Given the description of an element on the screen output the (x, y) to click on. 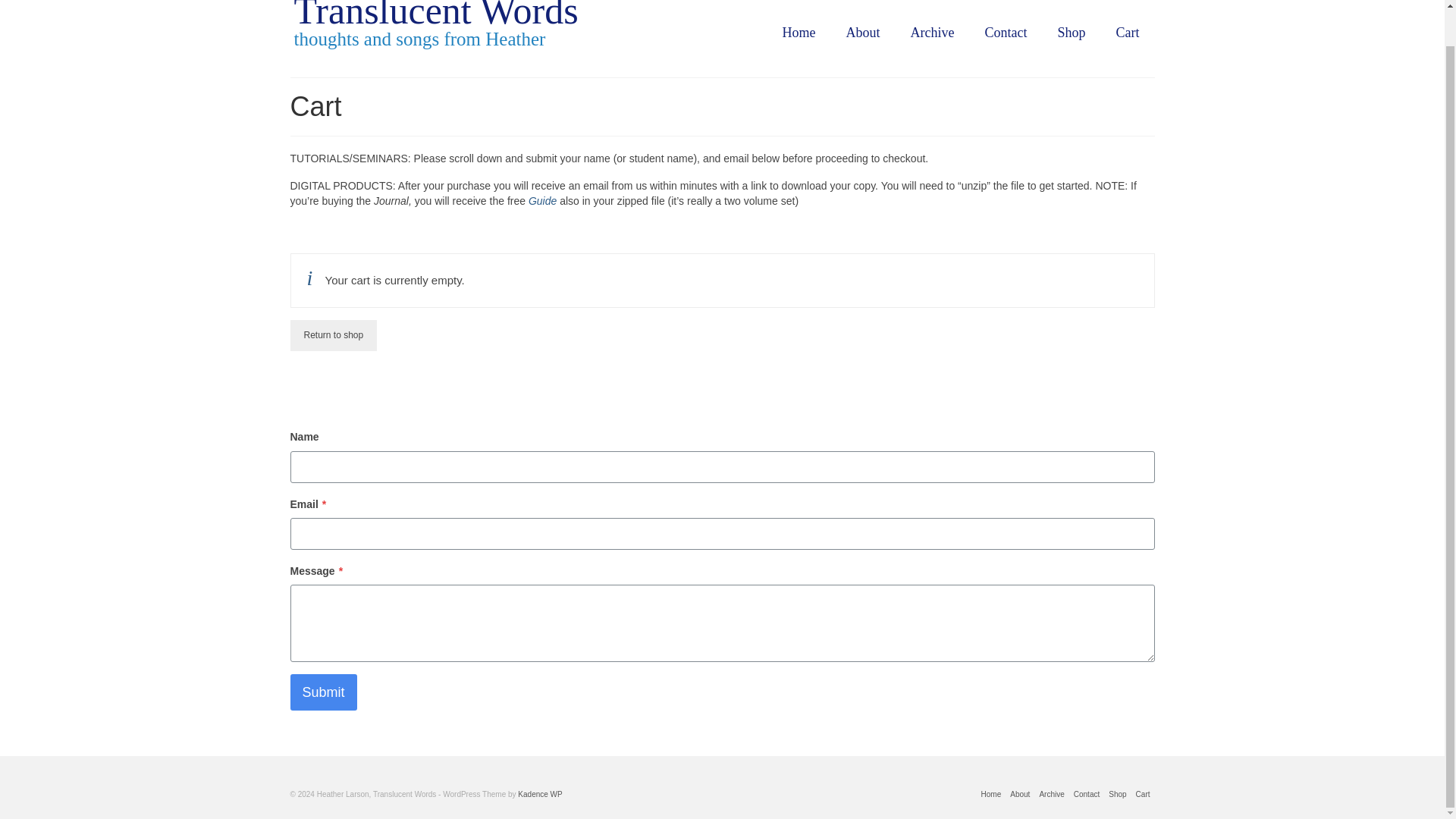
Cart (1127, 32)
Home (991, 794)
Home (799, 32)
Archive (932, 32)
Kadence WP (540, 794)
Translucent Words (436, 15)
Submit (322, 692)
Contact (1085, 794)
Shop (1117, 794)
About (1019, 794)
